Given the description of an element on the screen output the (x, y) to click on. 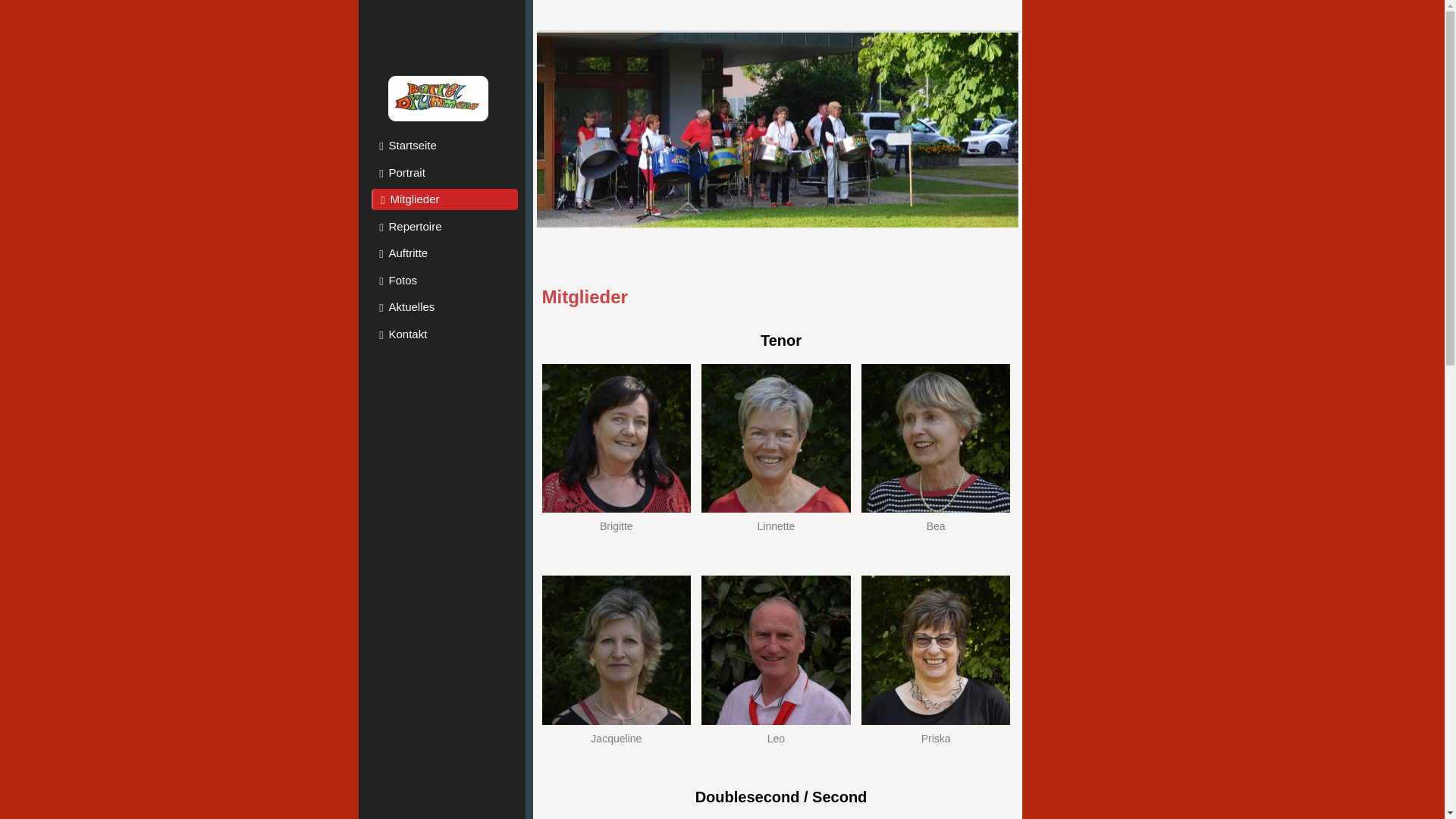
Startseite Element type: text (444, 145)
Repertoire Element type: text (444, 225)
Auftritte Element type: text (444, 252)
Aktuelles Element type: text (444, 306)
Fotos Element type: text (444, 280)
Portrait Element type: text (444, 172)
Kontakt Element type: text (444, 333)
Mitglieder Element type: text (444, 199)
